Given the description of an element on the screen output the (x, y) to click on. 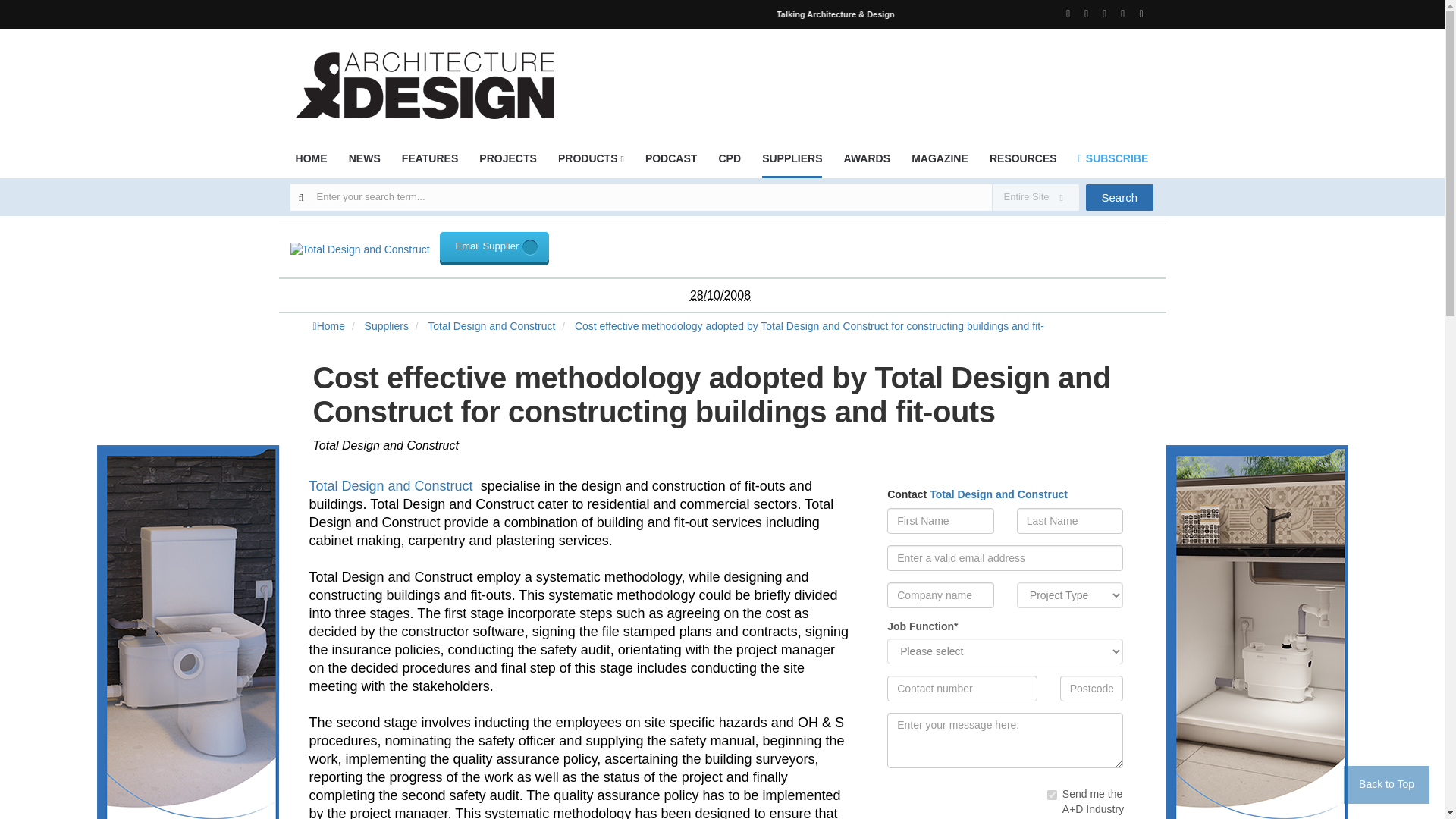
on (1051, 795)
3rd party ad content (876, 75)
PROJECTS (507, 163)
NEWS (364, 163)
2008-10-28T02:00:00Z (720, 295)
FEATURES (429, 163)
PRODUCTS (590, 163)
HOME (311, 163)
